Given the description of an element on the screen output the (x, y) to click on. 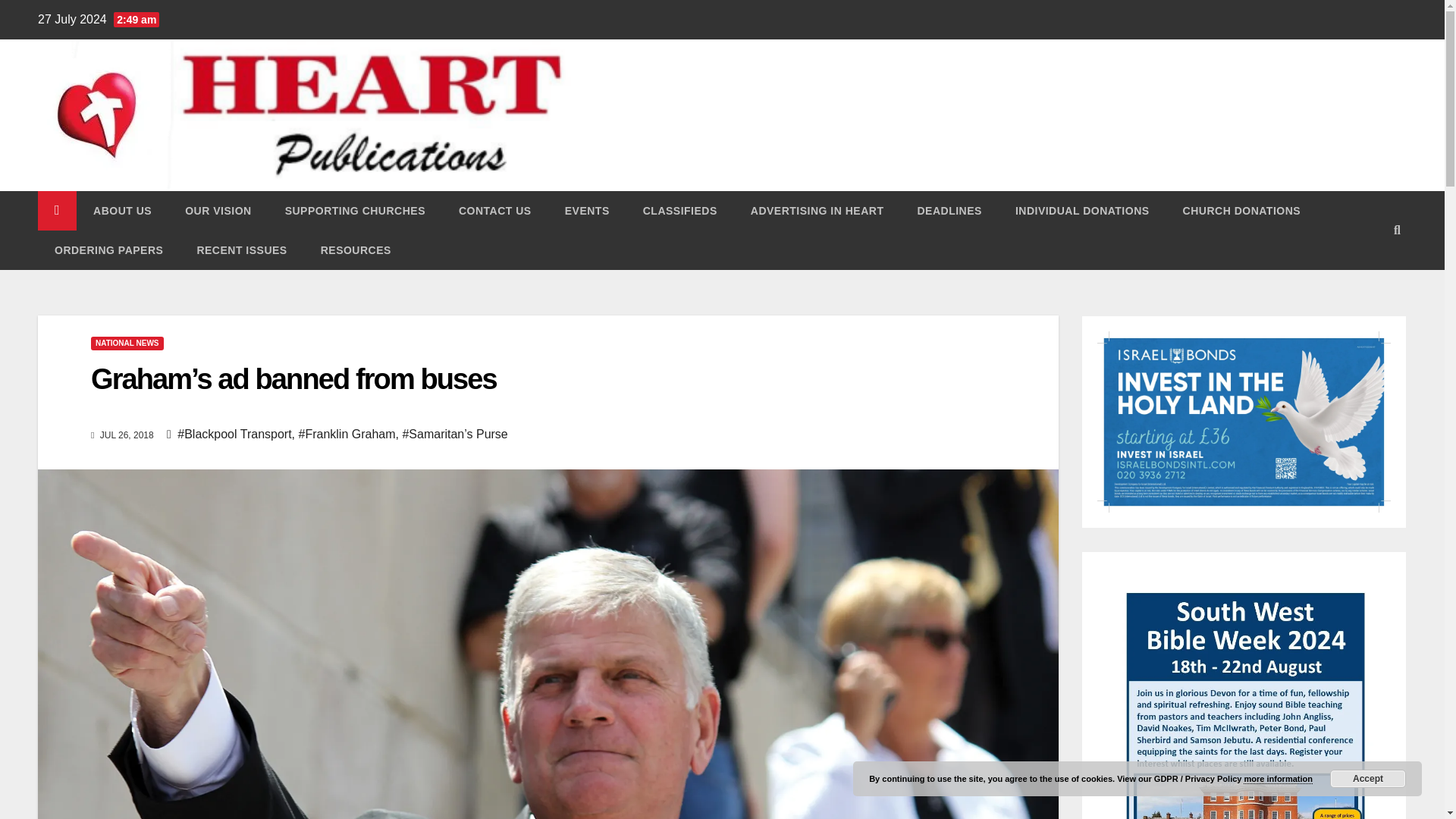
SUPPORTING CHURCHES (354, 210)
Our vision (217, 210)
OUR VISION (217, 210)
RECENT ISSUES (240, 250)
EVENTS (587, 210)
Contact us (495, 210)
ORDERING PAPERS (108, 250)
CONTACT US (495, 210)
INDIVIDUAL DONATIONS (1082, 210)
Events (587, 210)
Advertising in HEART (817, 210)
CHURCH DONATIONS (1241, 210)
NATIONAL NEWS (126, 343)
Resources (355, 250)
Deadlines (948, 210)
